Given the description of an element on the screen output the (x, y) to click on. 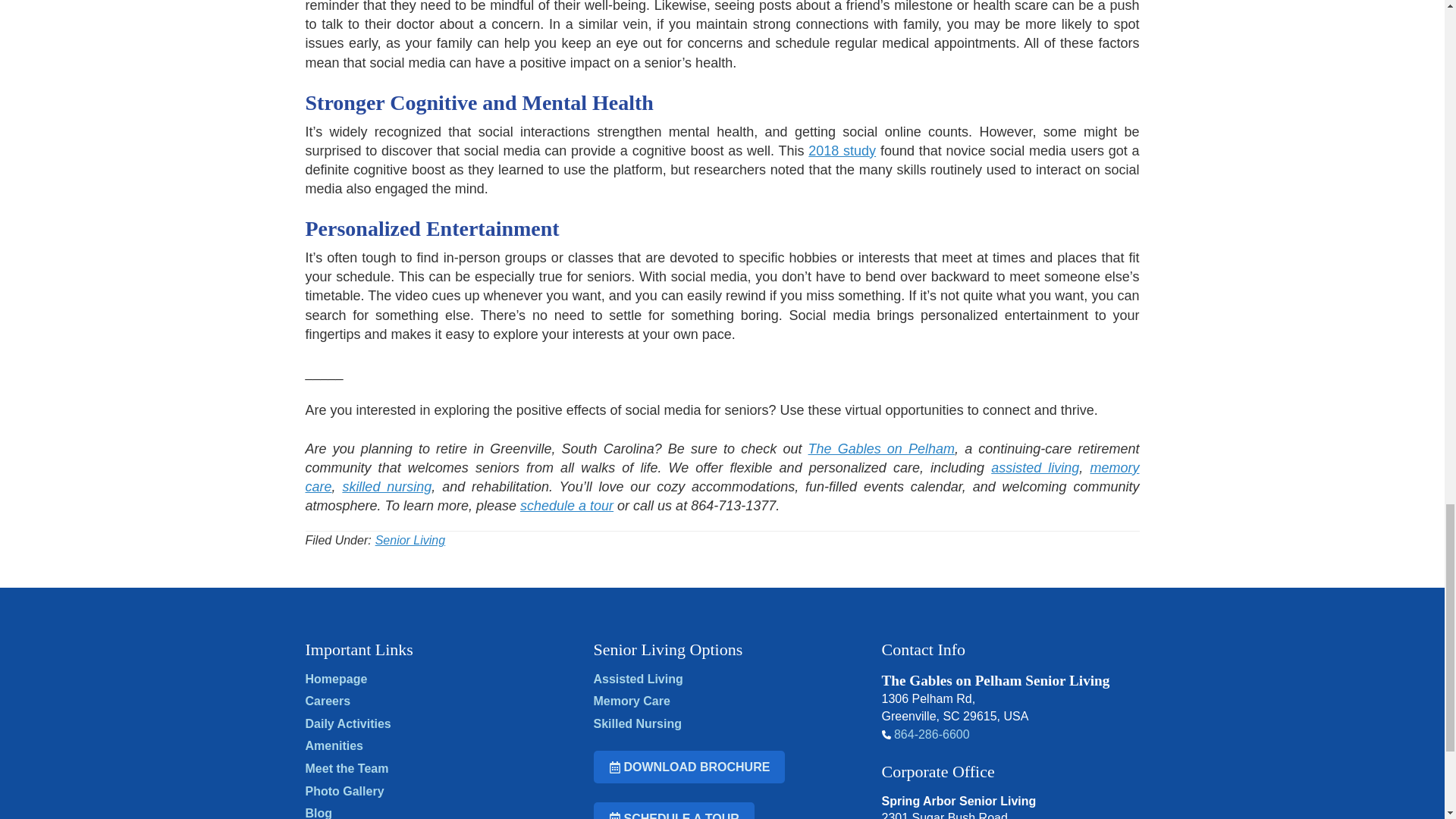
Daily Activities (347, 723)
Photo Gallery (344, 790)
skilled nursing (386, 486)
Homepage (335, 678)
Senior Living (410, 540)
The Gables on Pelham (881, 448)
Meet the Team (346, 768)
schedule a tour (565, 505)
Careers (327, 700)
2018 study (842, 150)
